Given the description of an element on the screen output the (x, y) to click on. 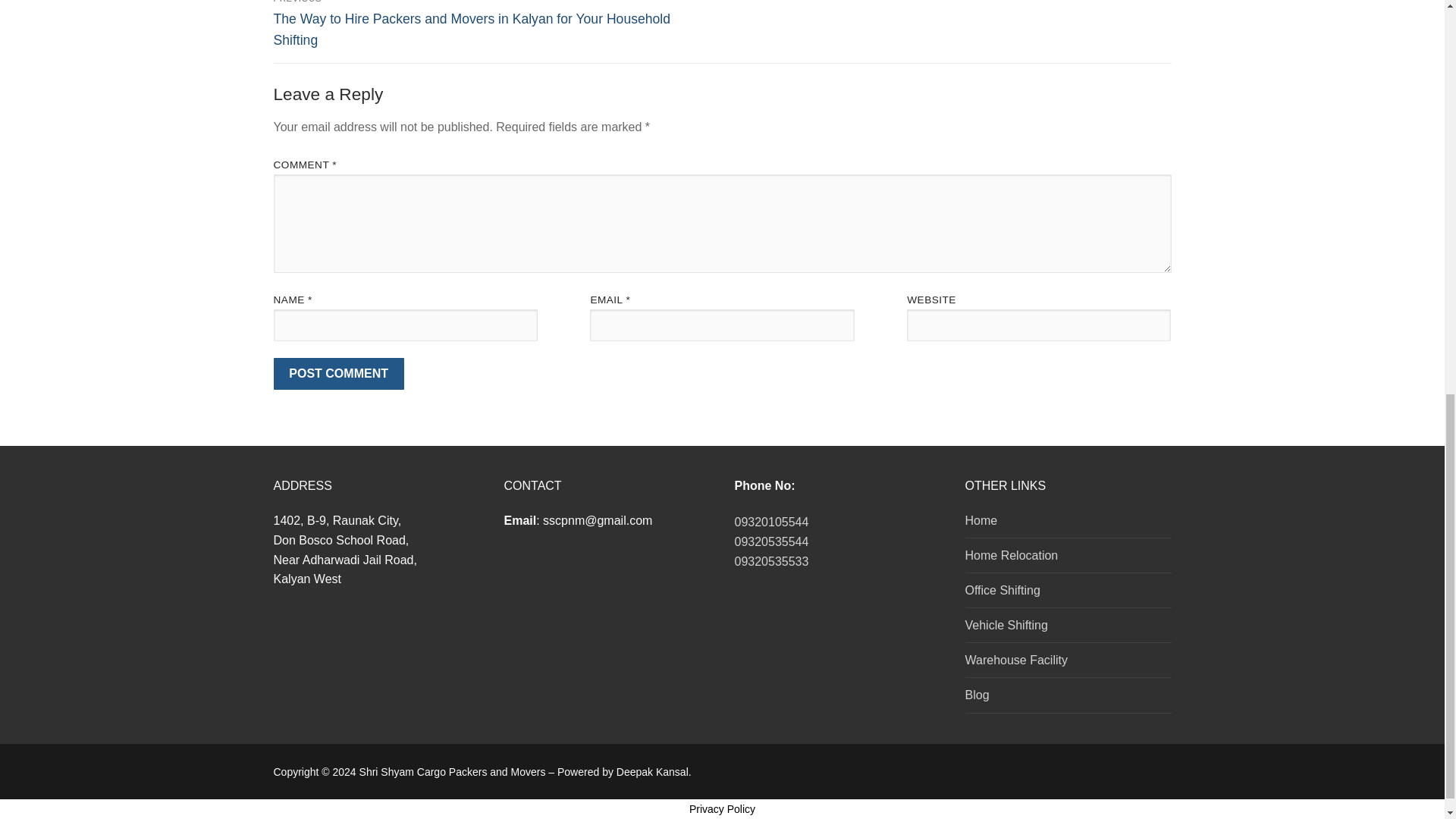
Post Comment (338, 373)
09320535533 (770, 561)
09320105544 (770, 521)
09320535544 (770, 541)
Post Comment (338, 373)
